Given the description of an element on the screen output the (x, y) to click on. 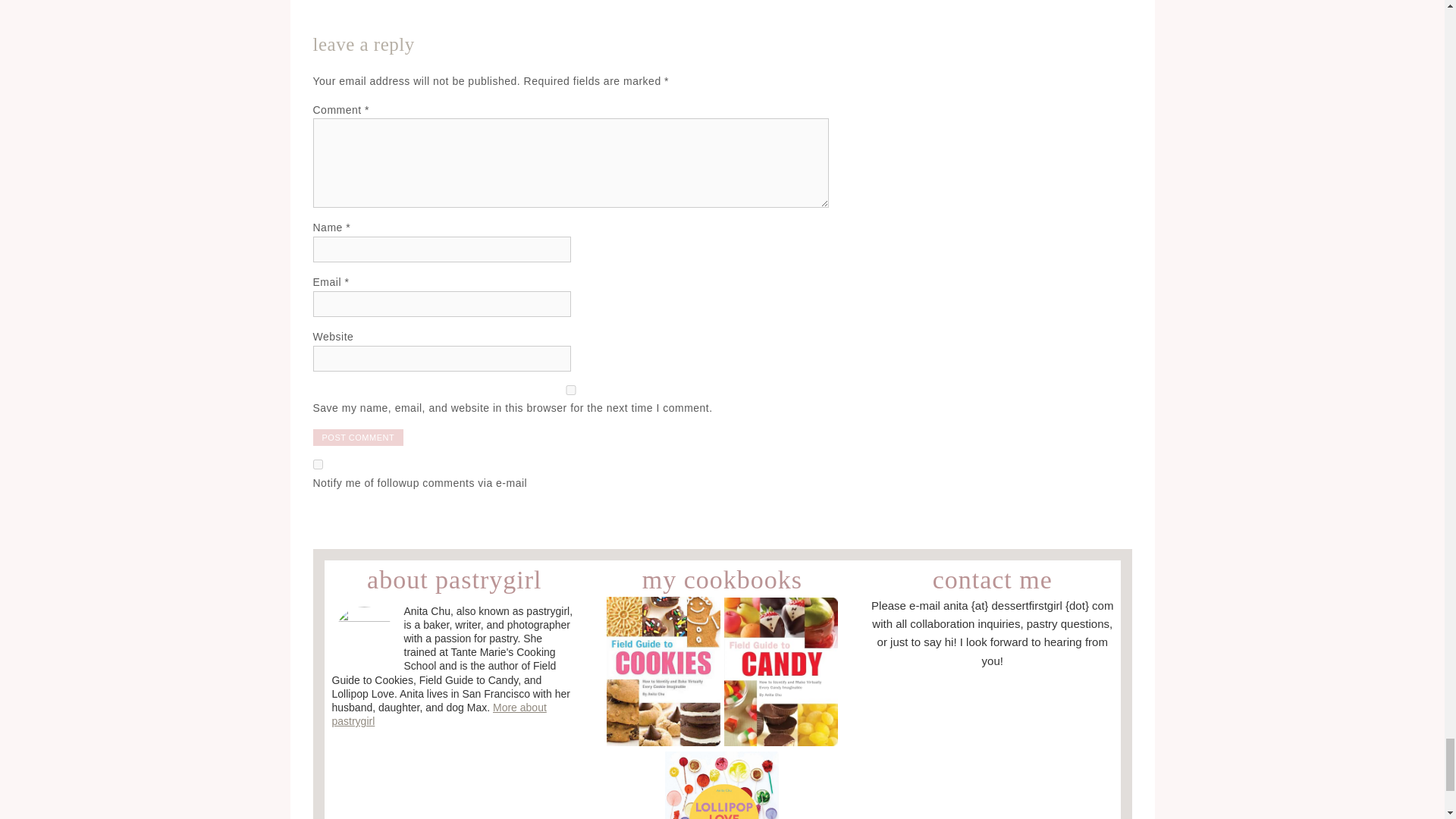
Post Comment (358, 437)
subscribe (317, 464)
yes (570, 389)
